Given the description of an element on the screen output the (x, y) to click on. 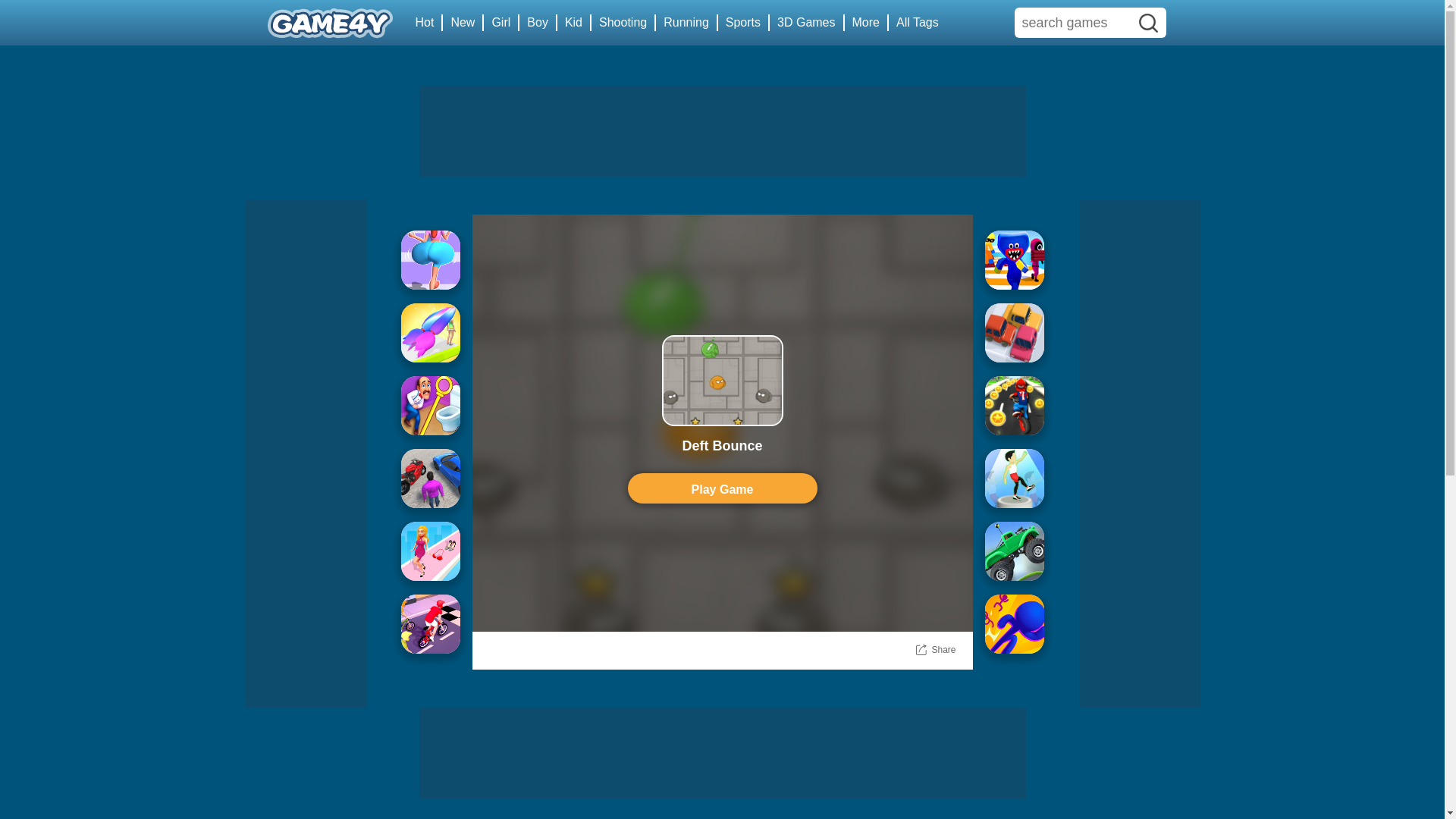
3D Bubble Rush (1013, 623)
Advertisement (722, 130)
Hair Challenge (430, 332)
Homescapes (430, 404)
All Tags (917, 22)
Sports (743, 22)
Parking Jam Online (1013, 332)
Bounce Big (430, 259)
Bike Rush (430, 623)
Bike Race Rush (1013, 404)
3D Games (807, 22)
Shooting (623, 22)
Boy (538, 22)
Running (686, 22)
Kid (574, 22)
